Given the description of an element on the screen output the (x, y) to click on. 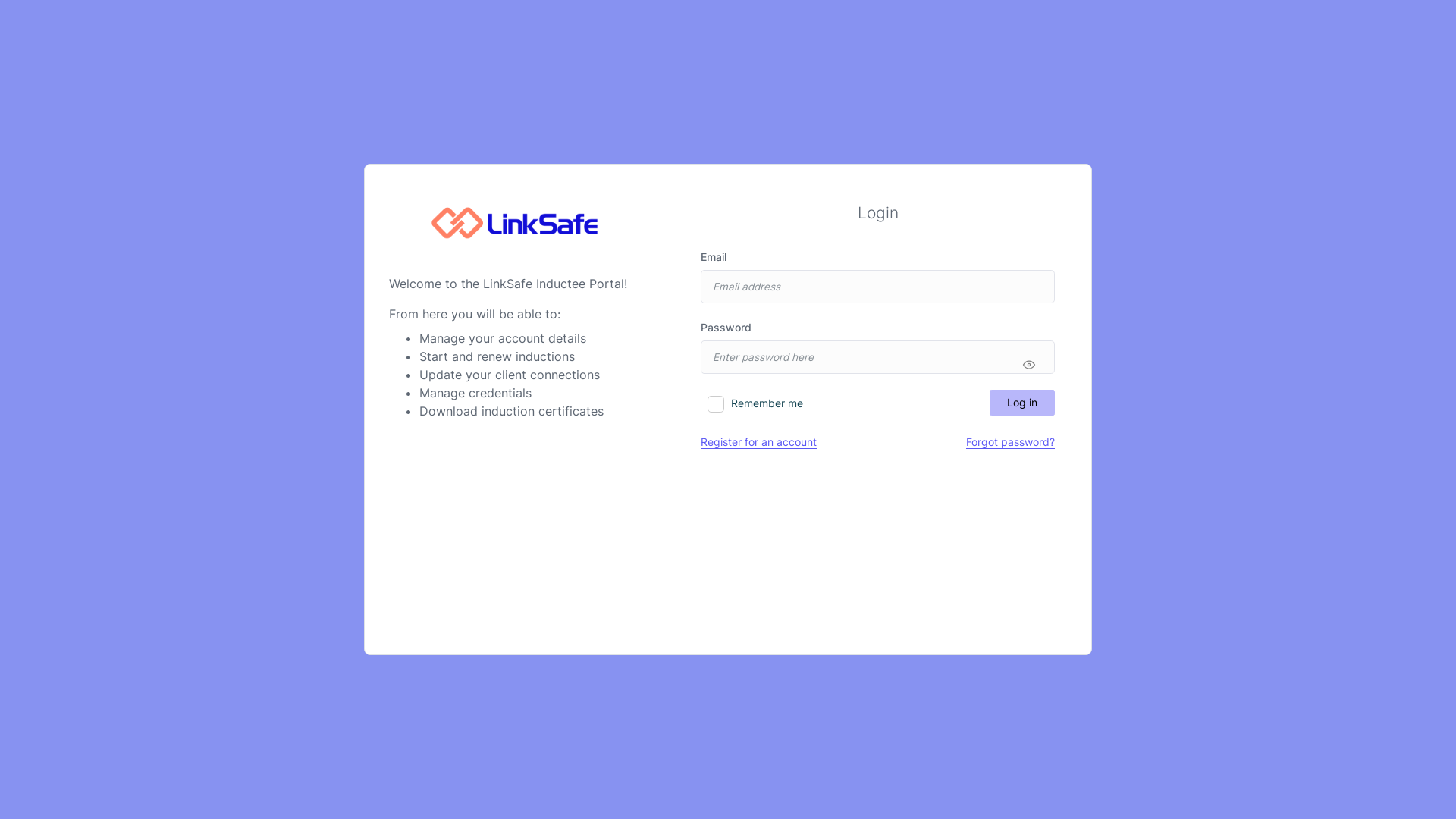
Forgot password? Element type: text (1010, 441)
Register for an account Element type: text (758, 441)
Log in Element type: text (1021, 402)
